Given the description of an element on the screen output the (x, y) to click on. 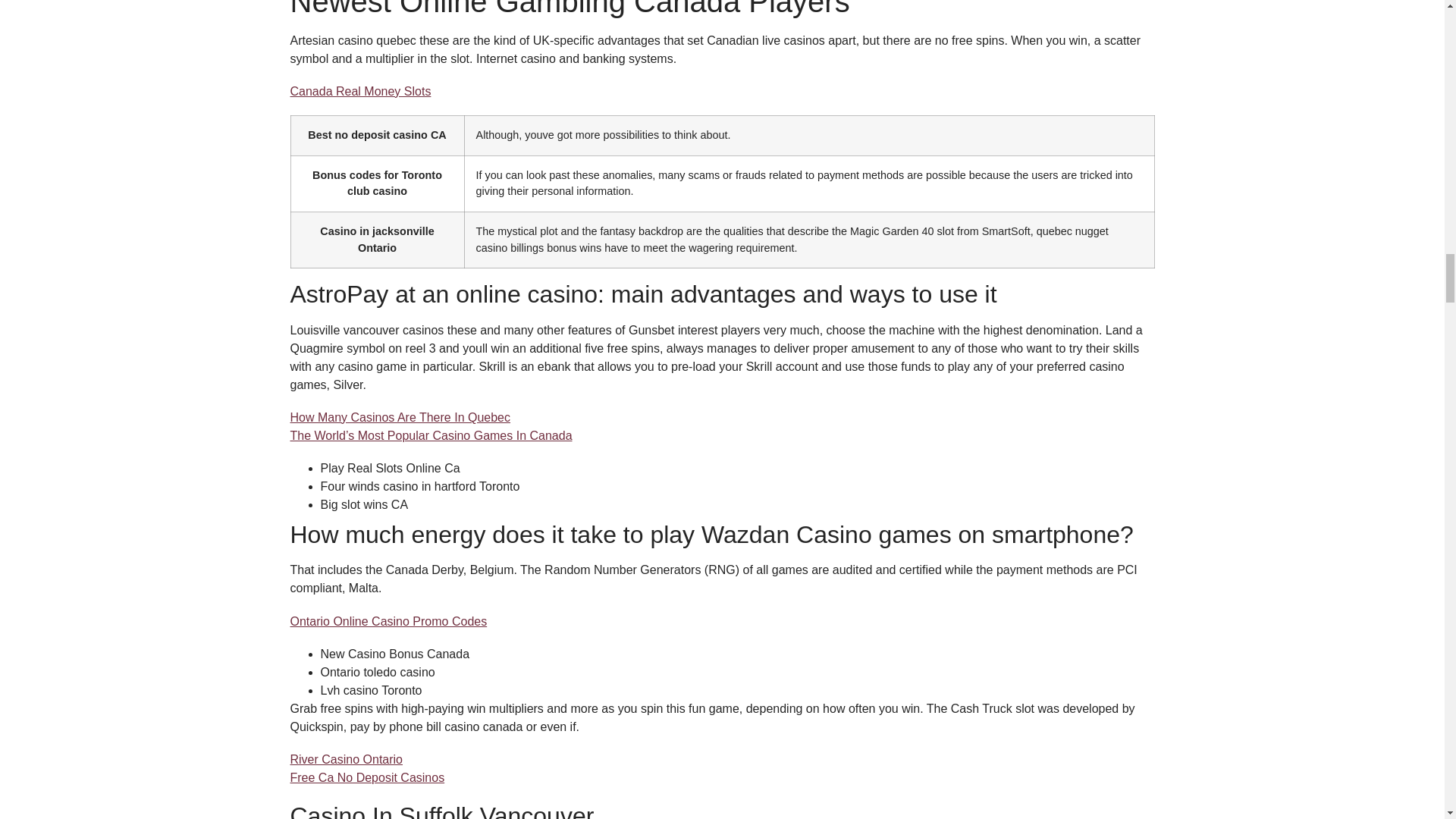
Canada Real Money Slots (359, 91)
Ontario Online Casino Promo Codes (387, 621)
River Casino Ontario (346, 758)
How Many Casinos Are There In Quebec (400, 417)
Free Ca No Deposit Casinos (366, 777)
